Given the description of an element on the screen output the (x, y) to click on. 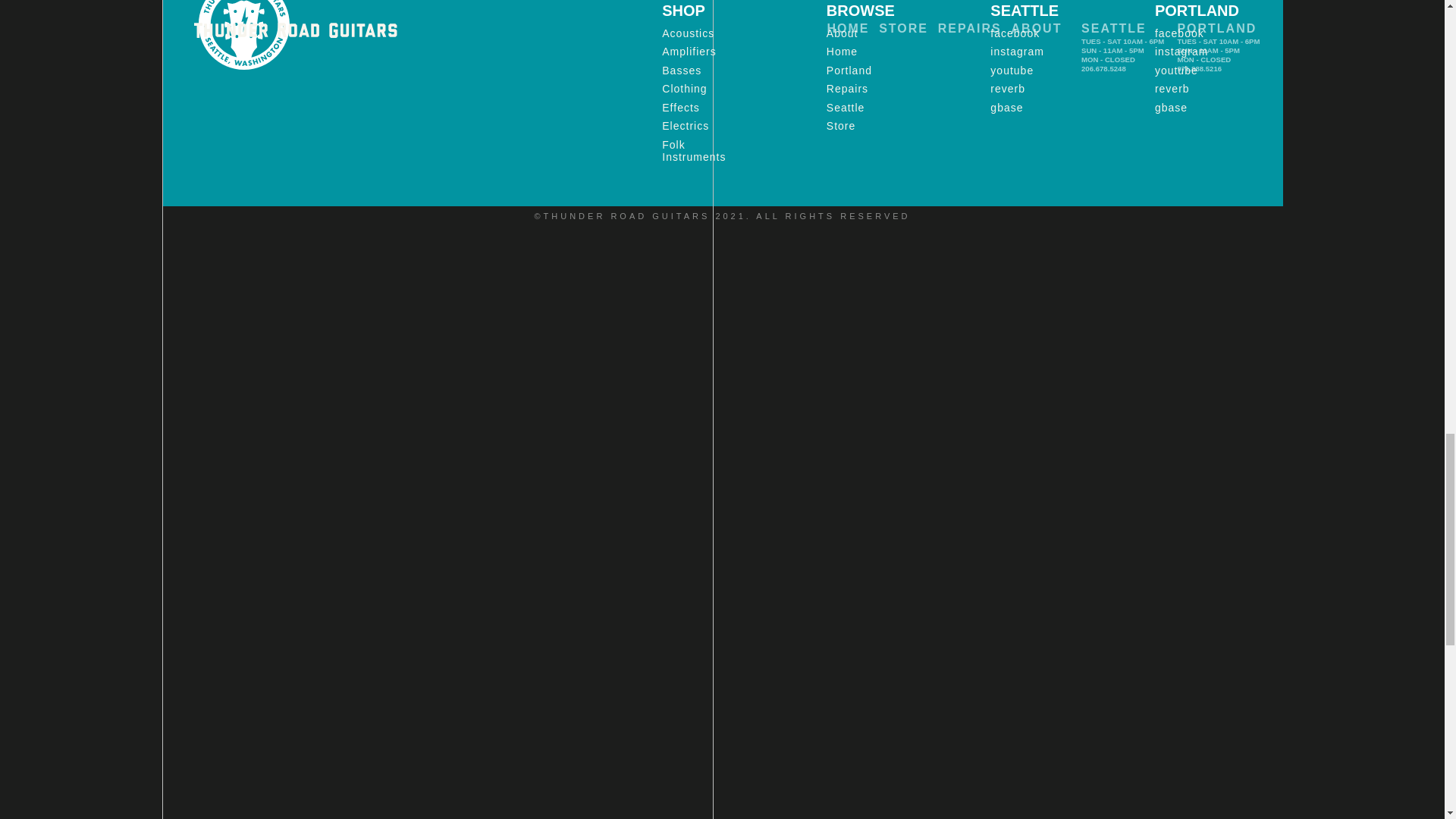
facebook (1179, 33)
Seattle (845, 107)
Effects (681, 107)
youtube (1011, 70)
youtube (1176, 70)
Amplifiers (689, 51)
reverb (1007, 88)
Electrics (685, 125)
Home (842, 51)
instagram (1016, 51)
reverb (1171, 88)
Store (841, 125)
Acoustics (688, 33)
About (843, 33)
Portland (849, 70)
